Given the description of an element on the screen output the (x, y) to click on. 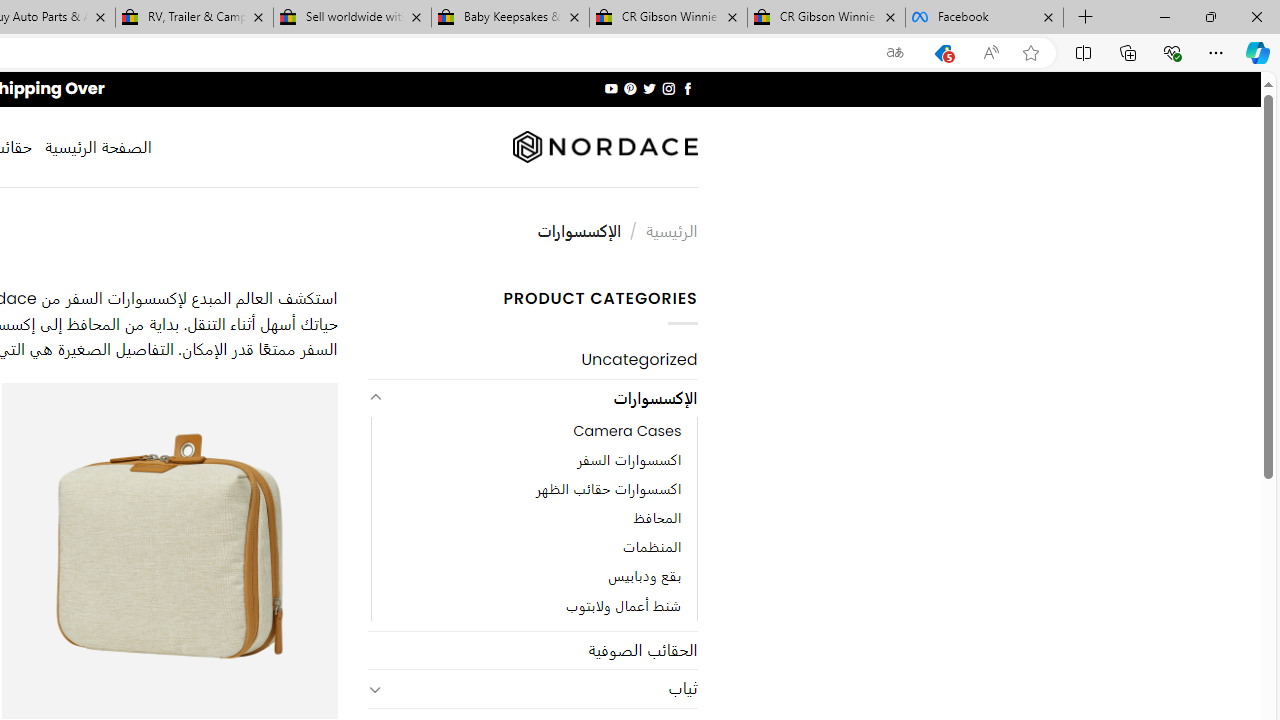
Browser essentials (1171, 52)
Uncategorized (532, 359)
Nordace (604, 147)
Camera Cases (534, 431)
Camera Cases (627, 431)
Read aloud this page (Ctrl+Shift+U) (991, 53)
